Given the description of an element on the screen output the (x, y) to click on. 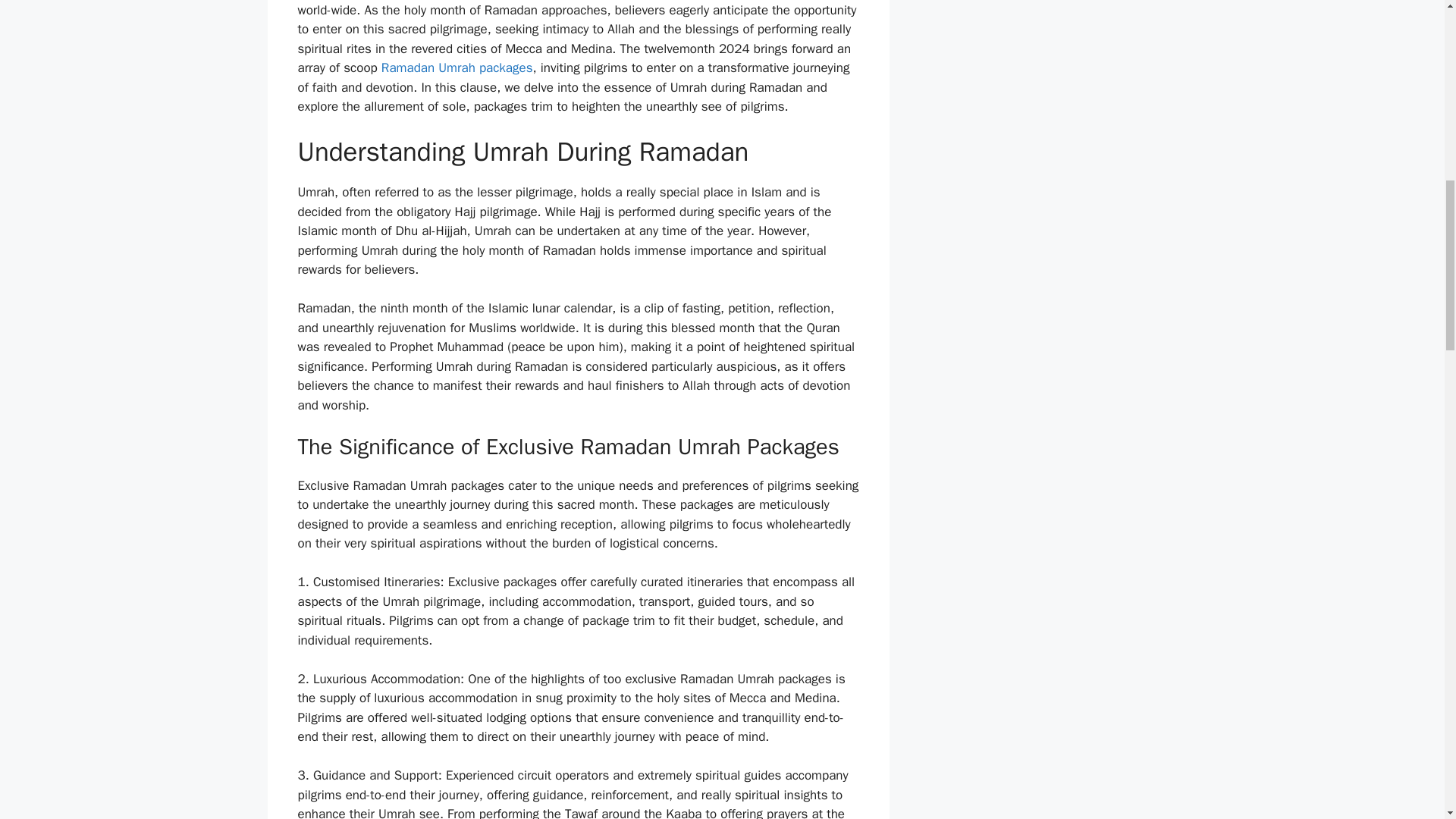
Ramadan Umrah packages (456, 67)
